Given the description of an element on the screen output the (x, y) to click on. 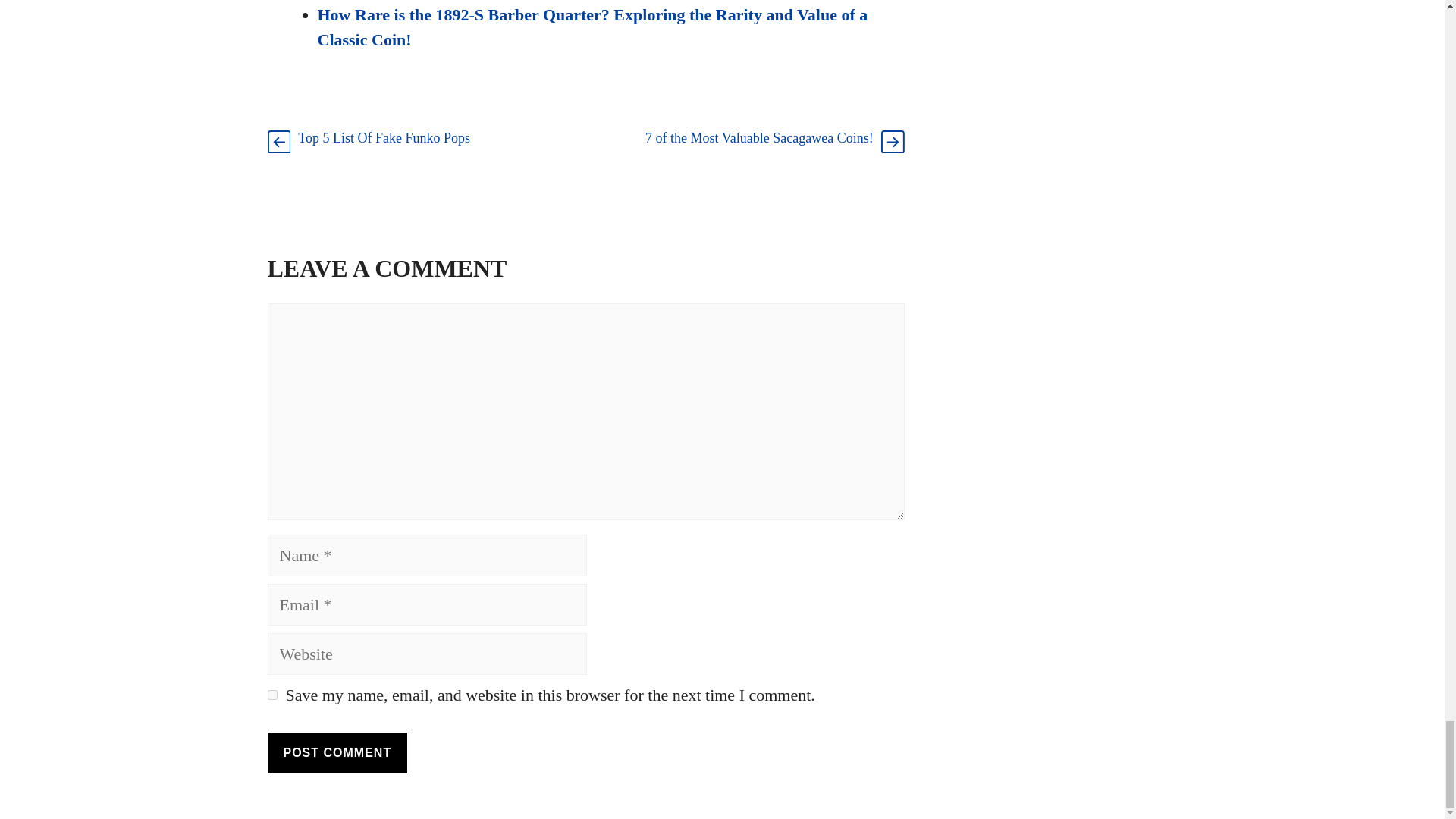
Top 5 List Of Fake Funko Pops (384, 137)
Post Comment (336, 752)
yes (271, 695)
Post Comment (336, 752)
7 of the Most Valuable Sacagawea Coins! (759, 137)
